Given the description of an element on the screen output the (x, y) to click on. 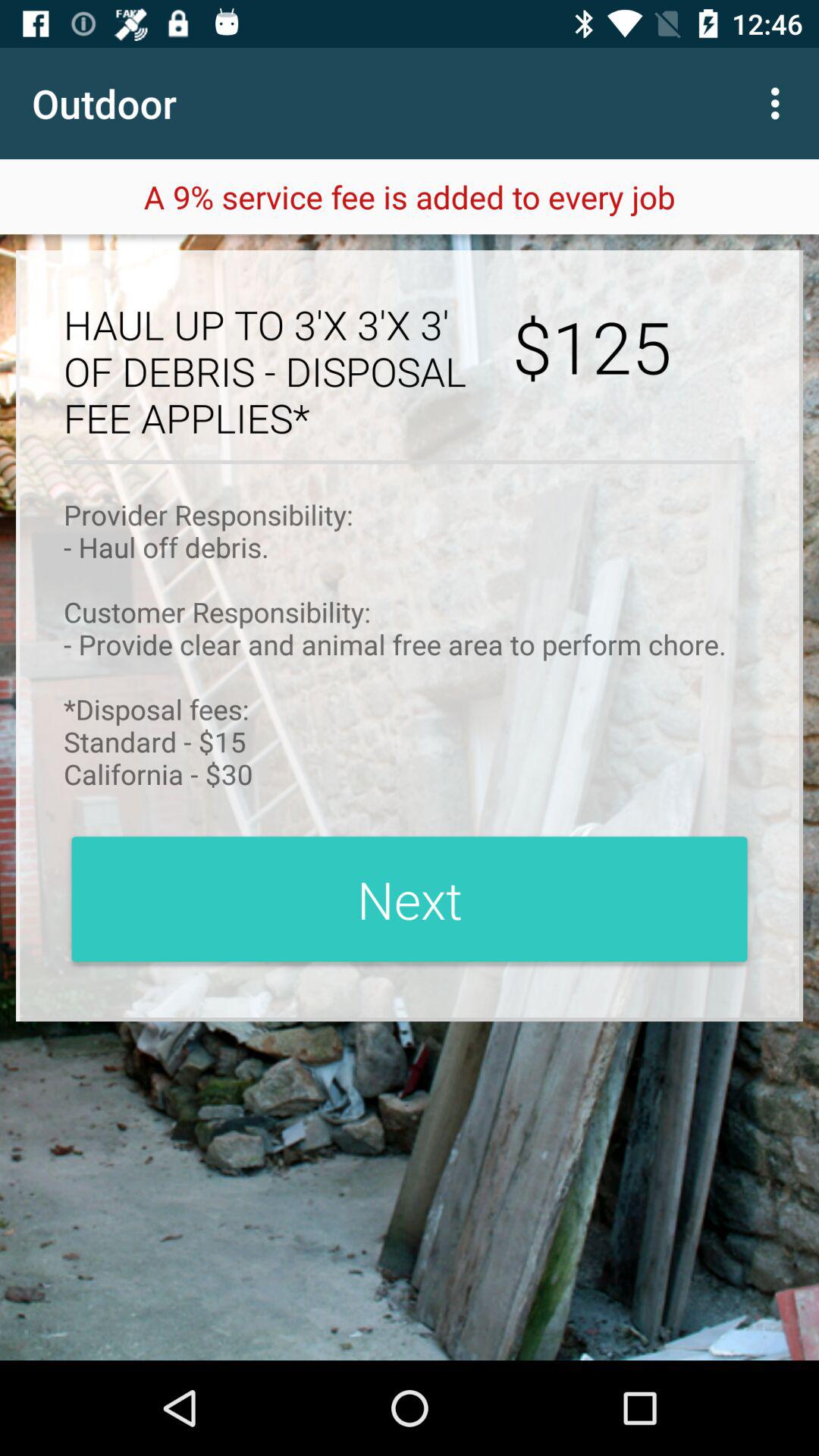
open next (409, 898)
